Given the description of an element on the screen output the (x, y) to click on. 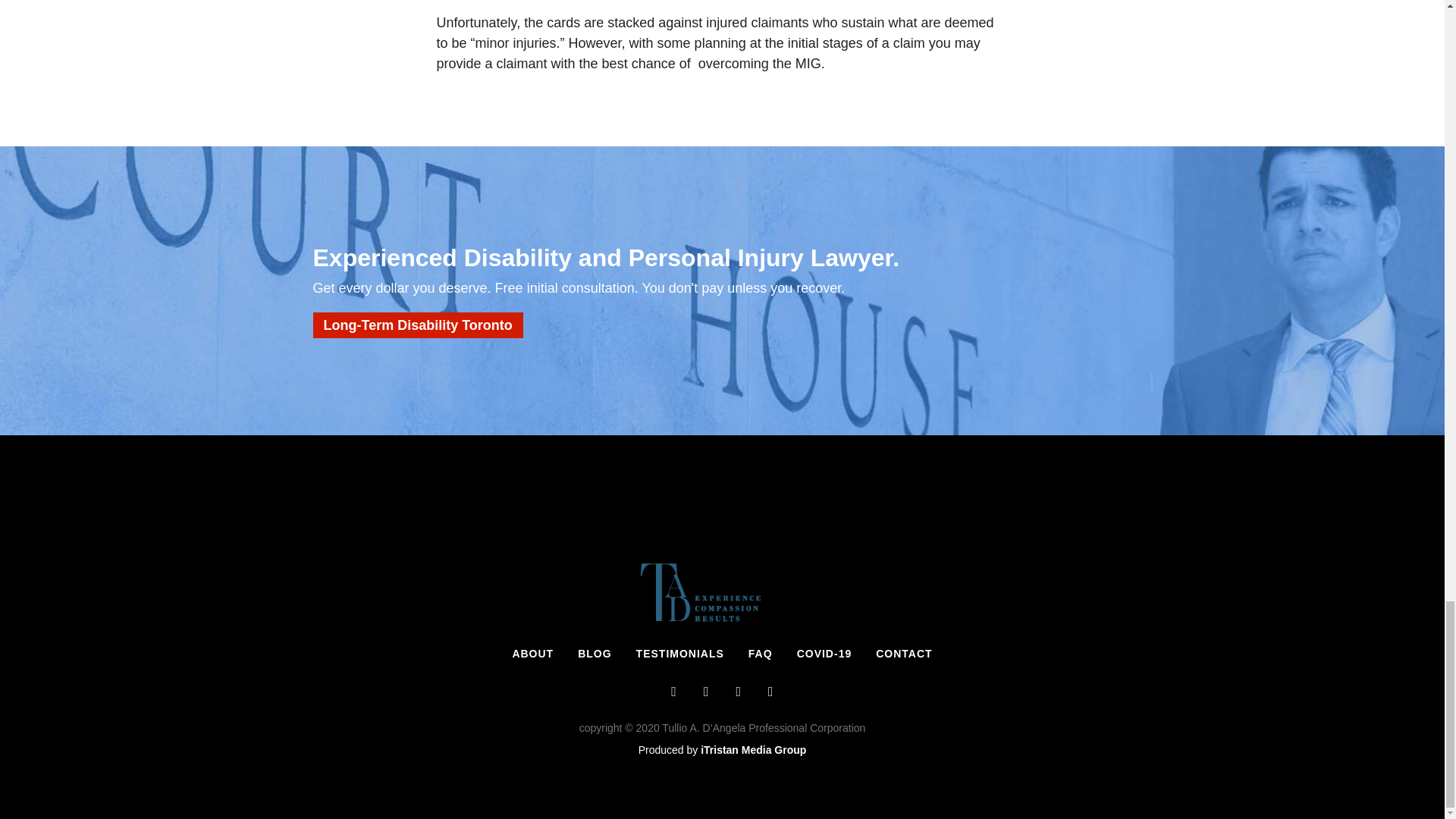
BLOG (594, 653)
iTristan Media Group (753, 749)
ABOUT (532, 653)
COVID-19 (824, 653)
Tad Law Personal Injury Lawyer (721, 591)
TESTIMONIALS (680, 653)
FAQ (760, 653)
Long-Term Disability Toronto (417, 325)
CONTACT (903, 653)
